Given the description of an element on the screen output the (x, y) to click on. 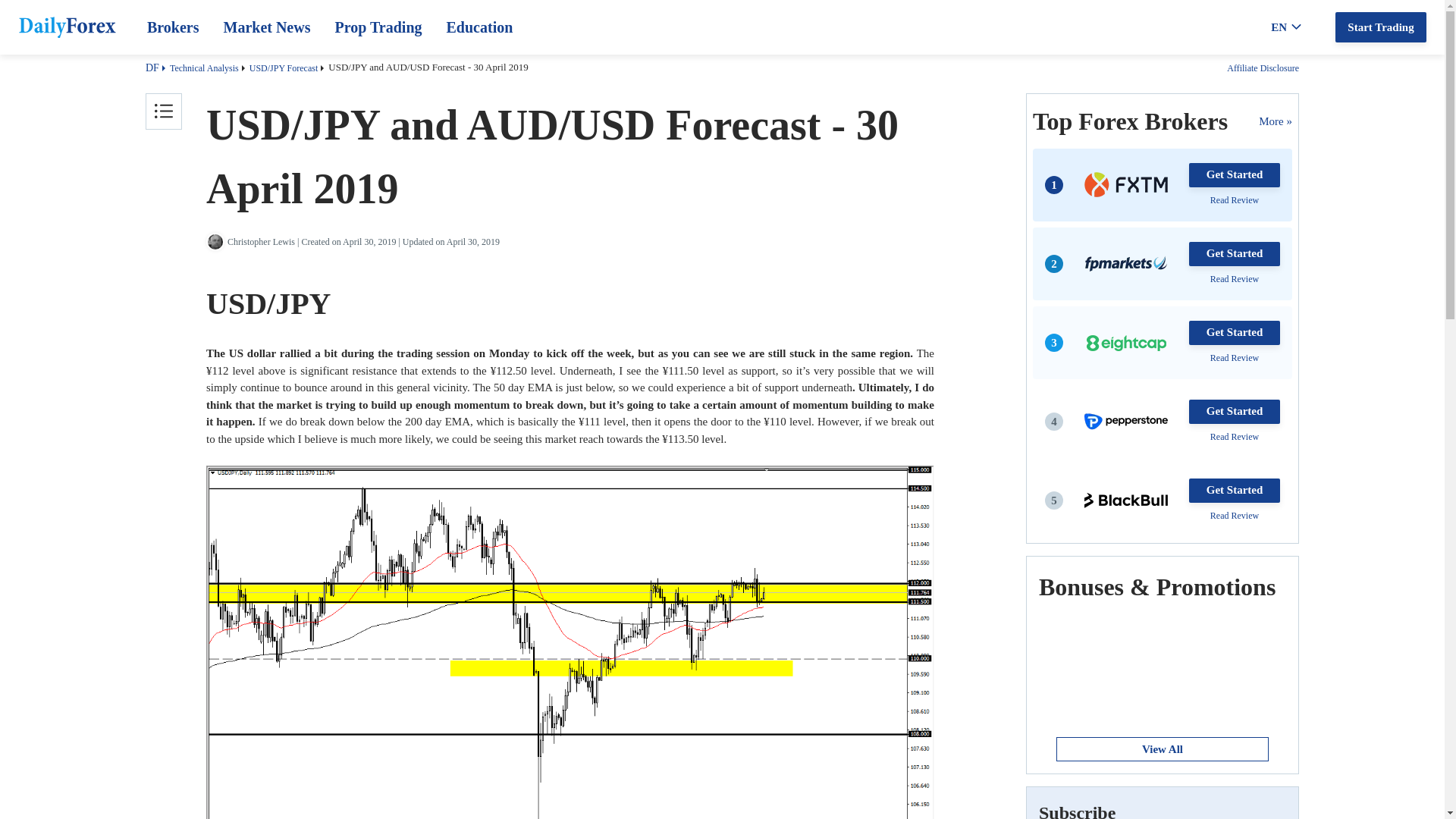
BlackBull Markets (1125, 500)
FXTM (1125, 184)
DailyForex (66, 27)
Eightcap (1125, 342)
Pepperstone (1125, 421)
DailyForex (66, 29)
Brokers (173, 27)
FP Markets (1125, 263)
